Given the description of an element on the screen output the (x, y) to click on. 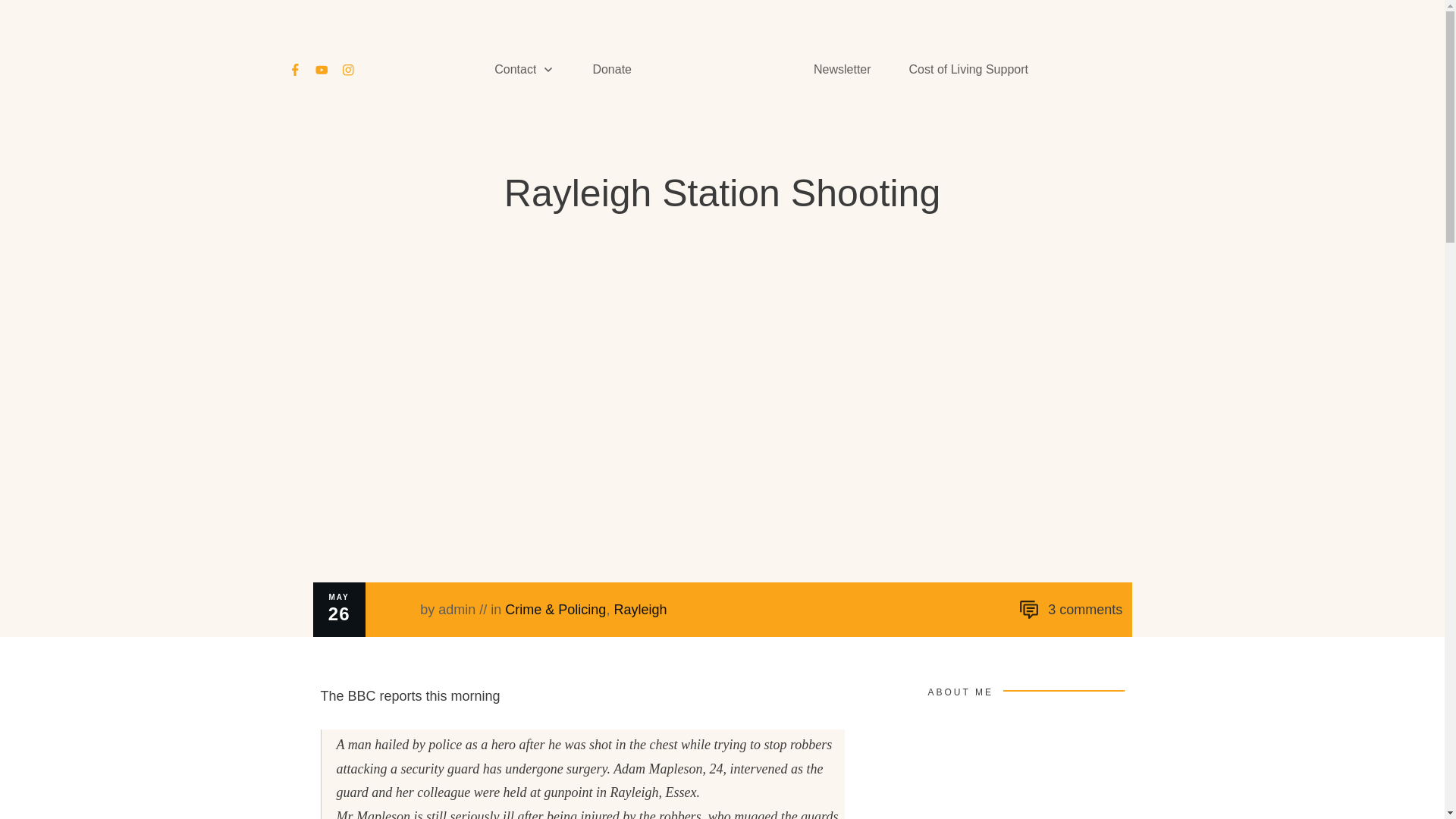
Cost of Living Support (967, 69)
Contact (524, 69)
Rayleigh (639, 609)
admin (457, 609)
Rayleigh (639, 609)
admin (457, 609)
Newsletter (841, 69)
Donate (611, 69)
